Given the description of an element on the screen output the (x, y) to click on. 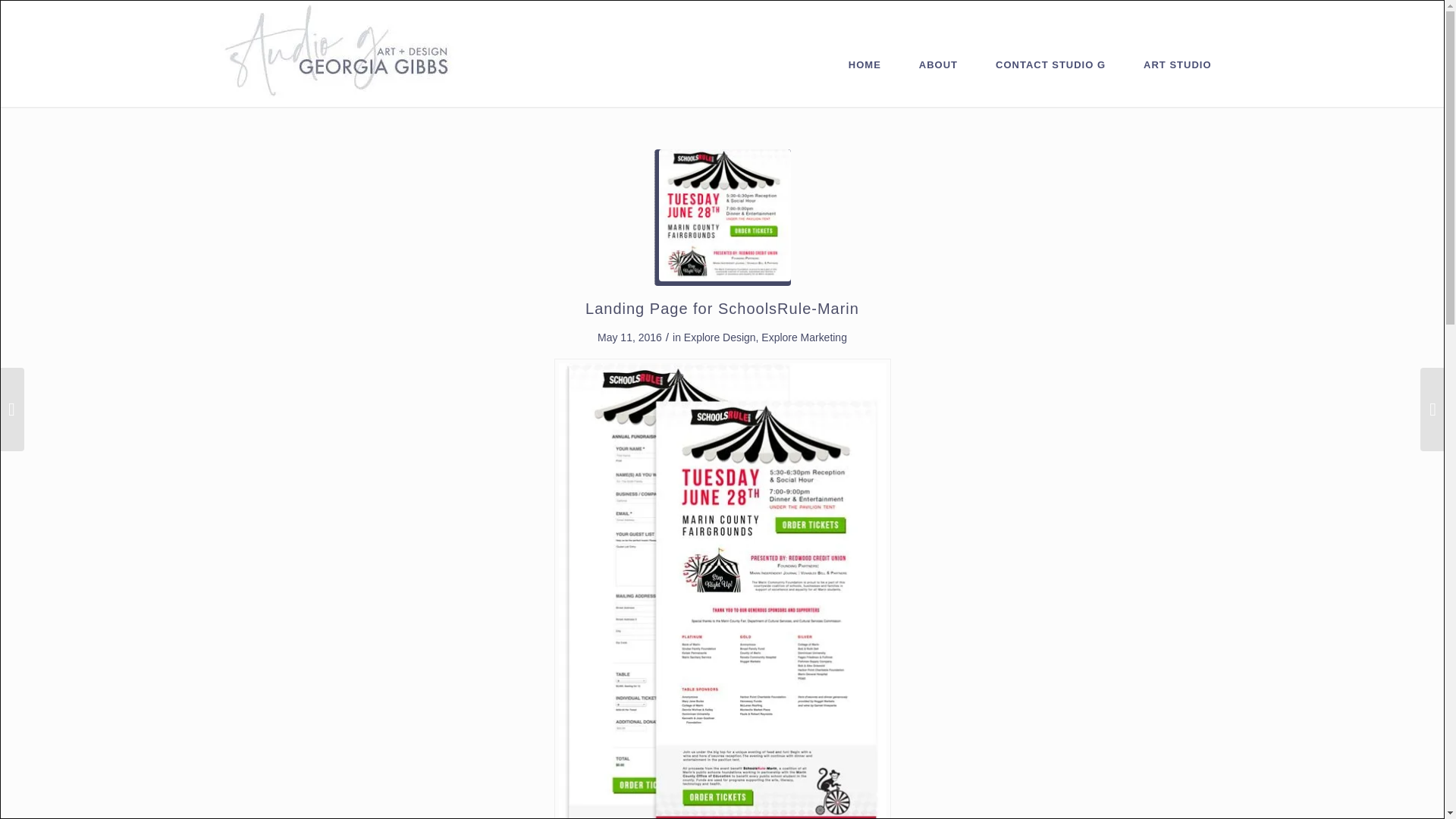
ART STUDIO (1177, 53)
CONTACT STUDIO G (1050, 53)
Contact Studio (1050, 53)
Explore Design (719, 337)
Explore Marketing (804, 337)
SchoolsRule- Marin Gala 2016 (721, 217)
